Given the description of an element on the screen output the (x, y) to click on. 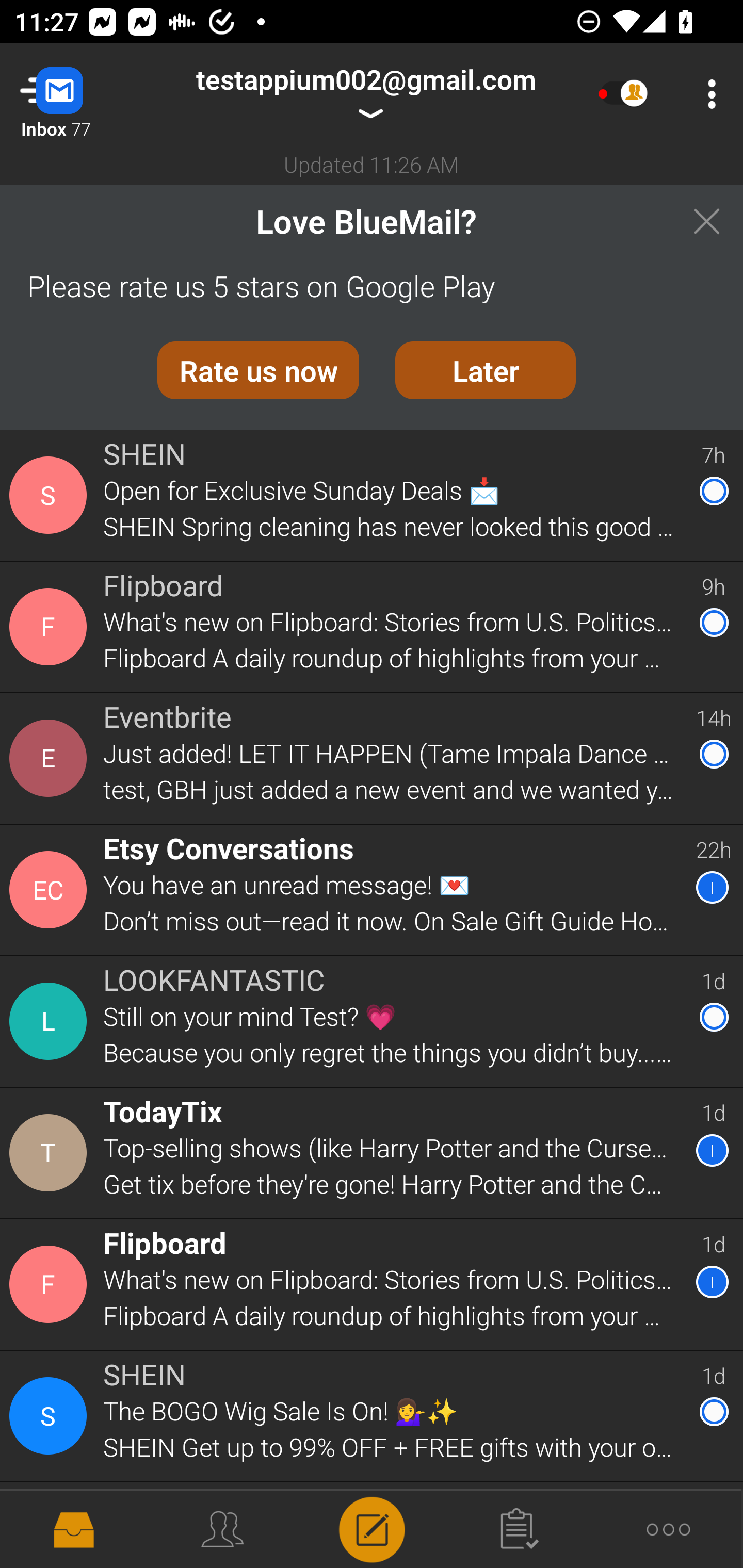
Navigate up (81, 93)
testappium002@gmail.com (365, 93)
More Options (706, 93)
Updated 11:26 AM (371, 164)
Rate us now (257, 370)
Later (485, 370)
Contact Details (50, 495)
Contact Details (50, 626)
Contact Details (50, 758)
Contact Details (50, 889)
Contact Details (50, 1021)
Contact Details (50, 1153)
Contact Details (50, 1284)
Contact Details (50, 1416)
Contact Details (50, 1524)
Compose (371, 1528)
